Given the description of an element on the screen output the (x, y) to click on. 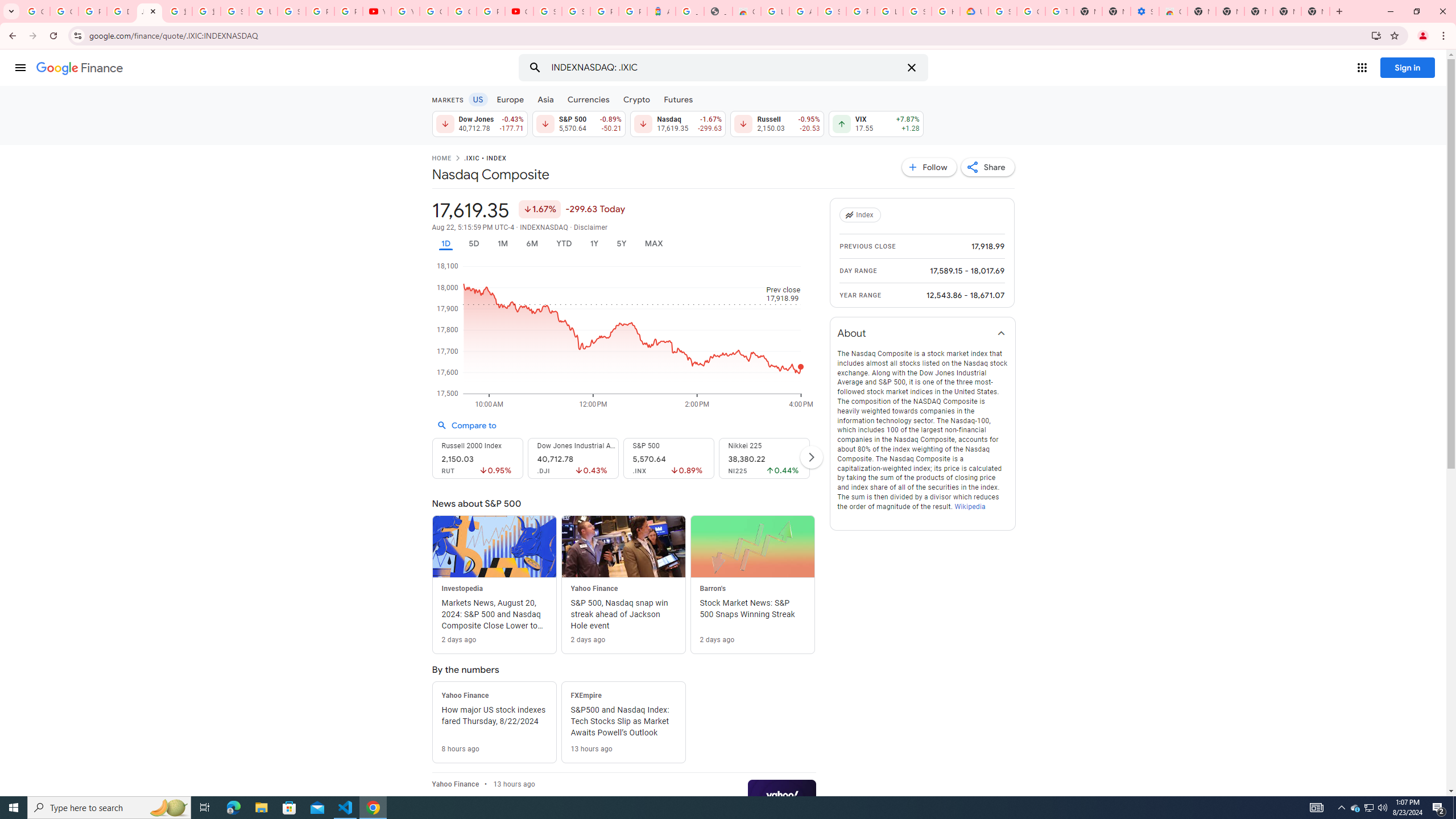
1Y (594, 243)
Chrome Web Store - Household (746, 11)
VIX 17.55 Up by 7.87% +1.28 (875, 123)
Clear search (911, 67)
Install Google Finance (1376, 35)
Sign in (1407, 67)
Index (861, 214)
Wikipedia (969, 506)
Search for stocks, ETFs & more (724, 67)
Finance (79, 68)
